Given the description of an element on the screen output the (x, y) to click on. 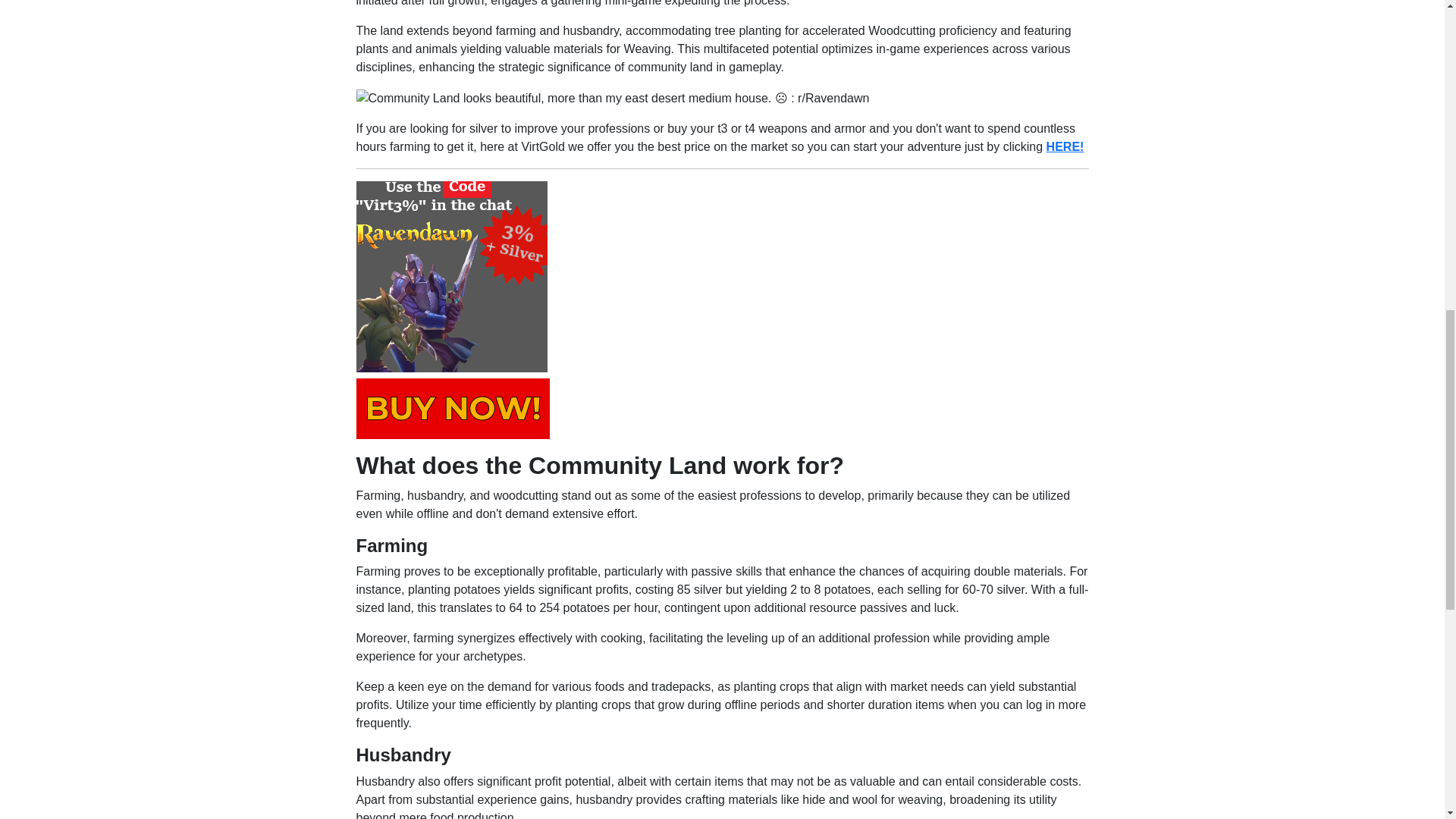
HERE! (1065, 146)
